Given the description of an element on the screen output the (x, y) to click on. 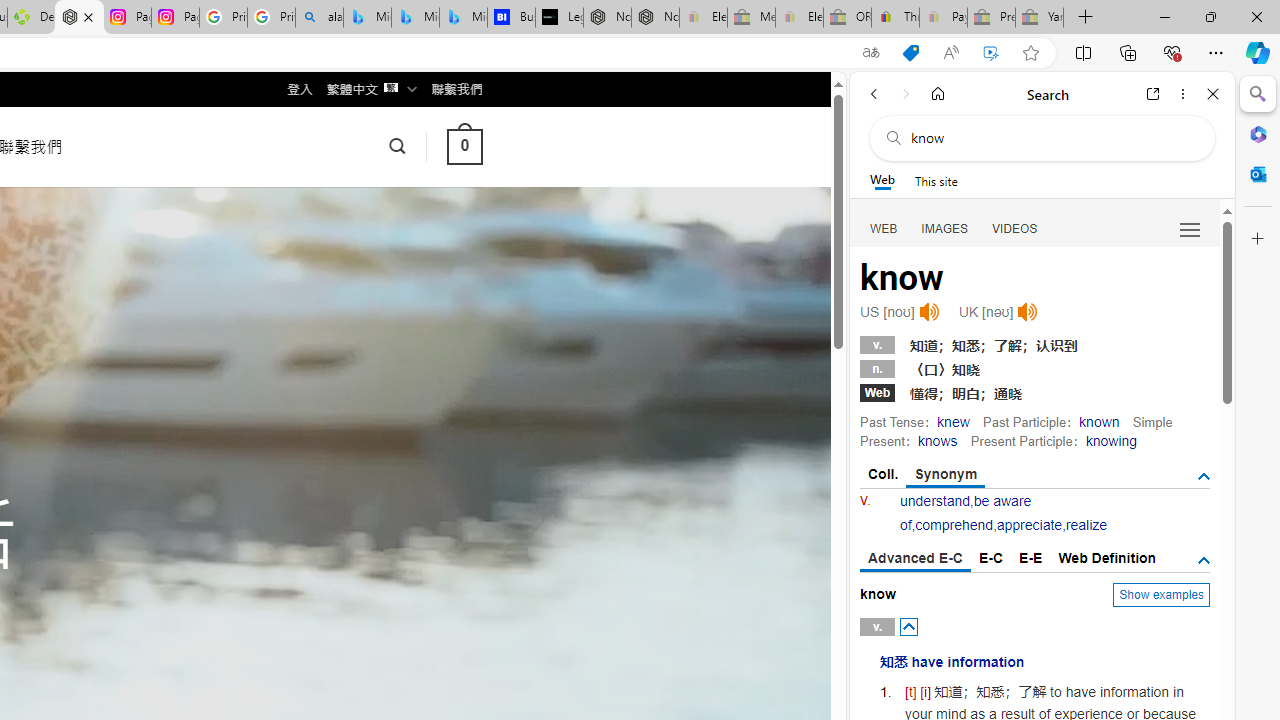
Synonym (945, 475)
Coll. (883, 473)
AutomationID: tgsb (1203, 476)
Payments Terms of Use | eBay.com - Sleeping (943, 17)
knows (936, 440)
Advanced E-C (915, 559)
  0   (464, 146)
 0  (464, 146)
